Given the description of an element on the screen output the (x, y) to click on. 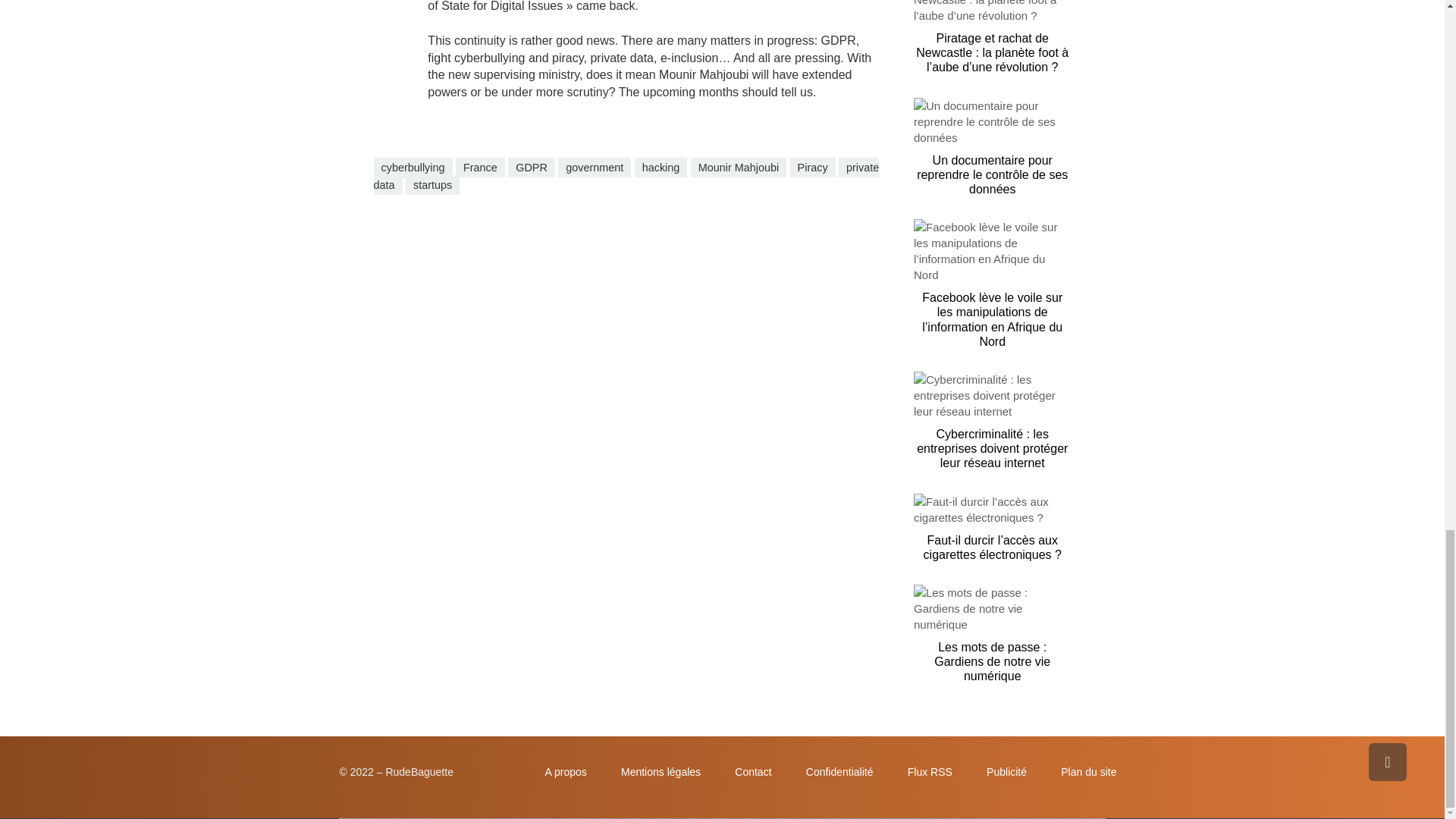
France (480, 167)
hacking (660, 167)
cyberbullying (411, 167)
private data (625, 176)
startups (433, 184)
Piracy (812, 167)
GDPR (531, 167)
government (593, 167)
Mounir Mahjoubi (738, 167)
